Given the description of an element on the screen output the (x, y) to click on. 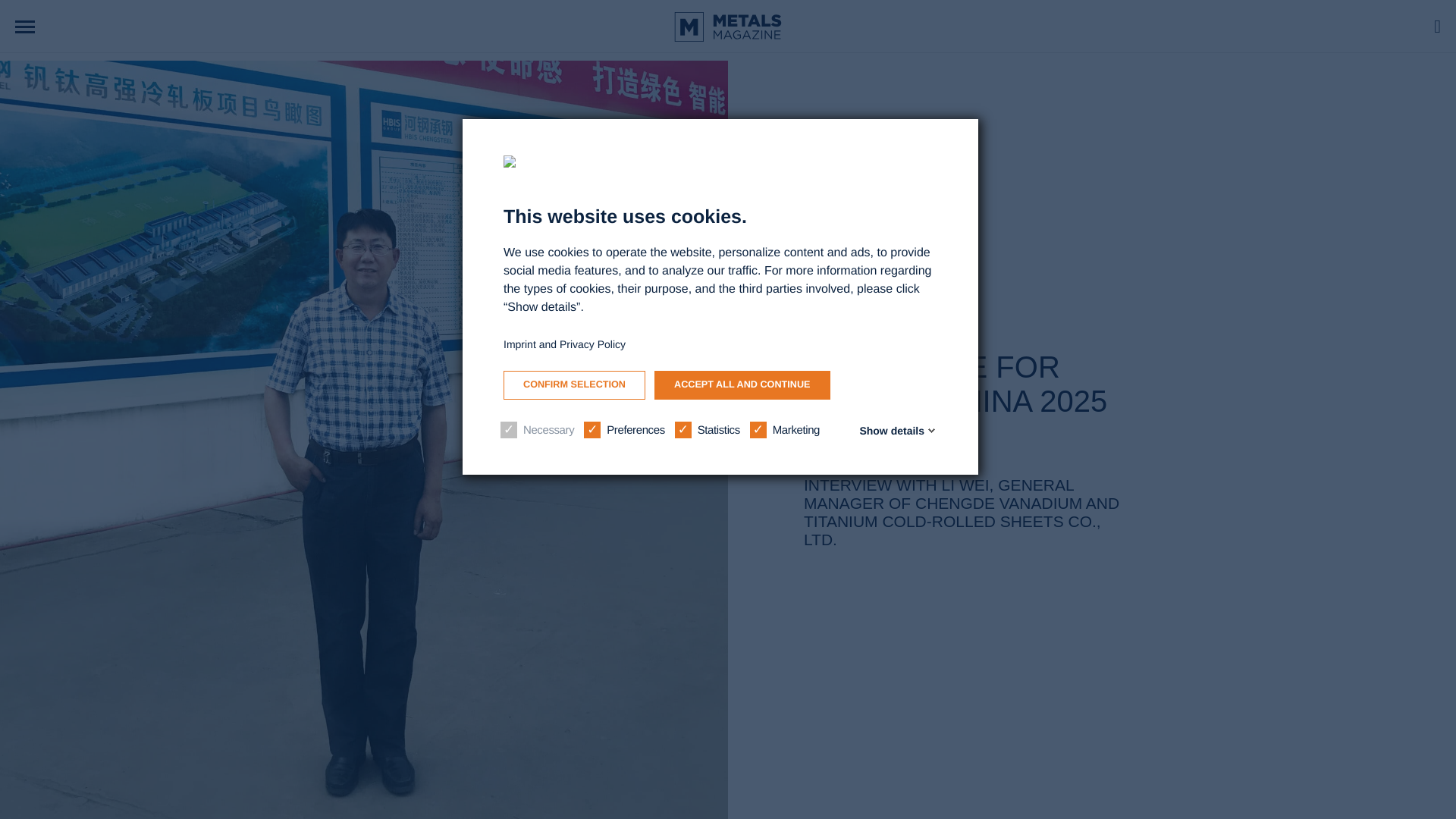
CONFIRM SELECTION (574, 385)
Show details (895, 430)
ACCEPT ALL AND CONTINUE (741, 385)
Imprint and Privacy Policy (564, 344)
